Given the description of an element on the screen output the (x, y) to click on. 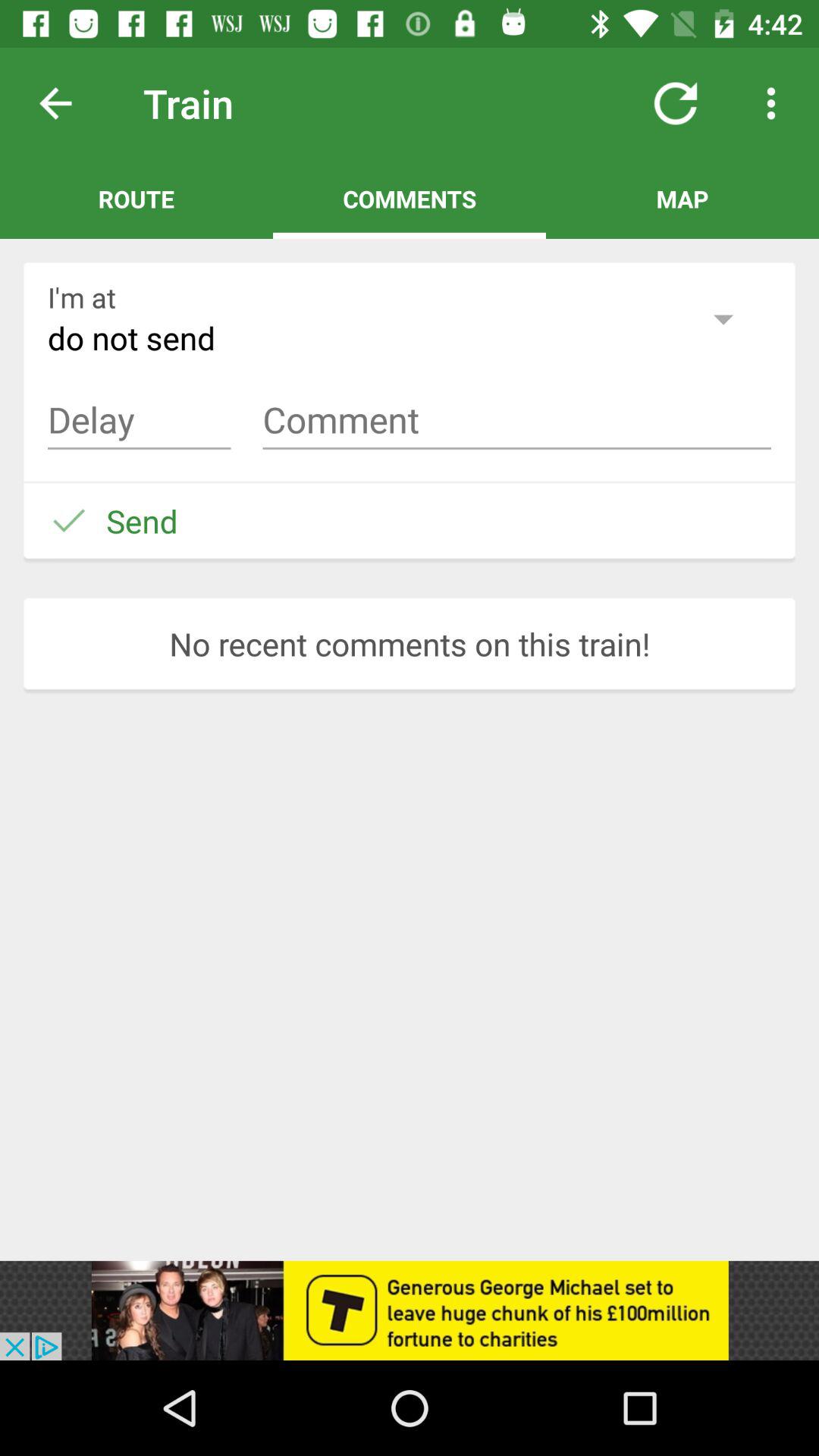
input comment (516, 420)
